Given the description of an element on the screen output the (x, y) to click on. 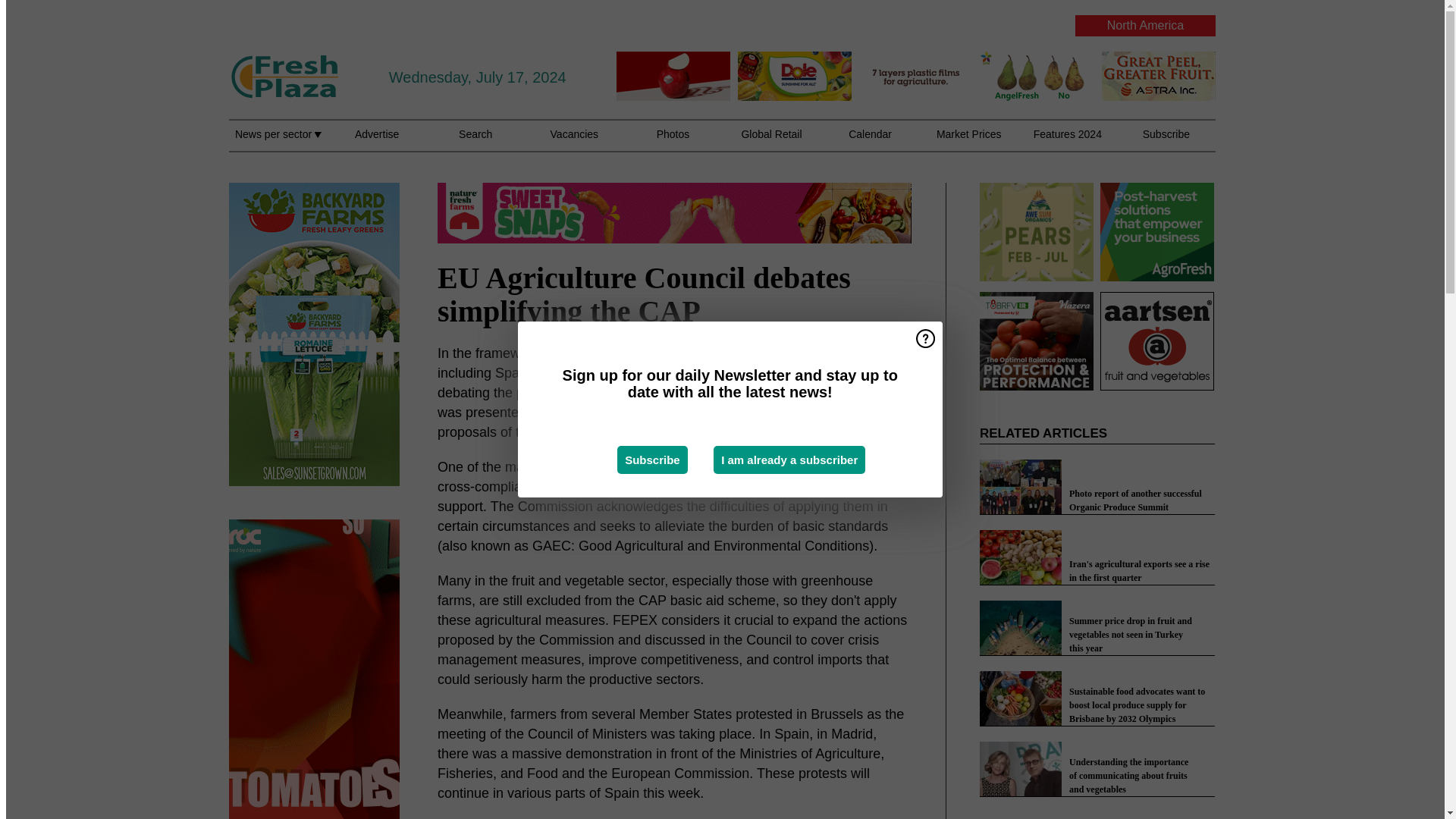
Subscribe (652, 459)
I am already a subscriber (788, 459)
News per sector (277, 142)
